Given the description of an element on the screen output the (x, y) to click on. 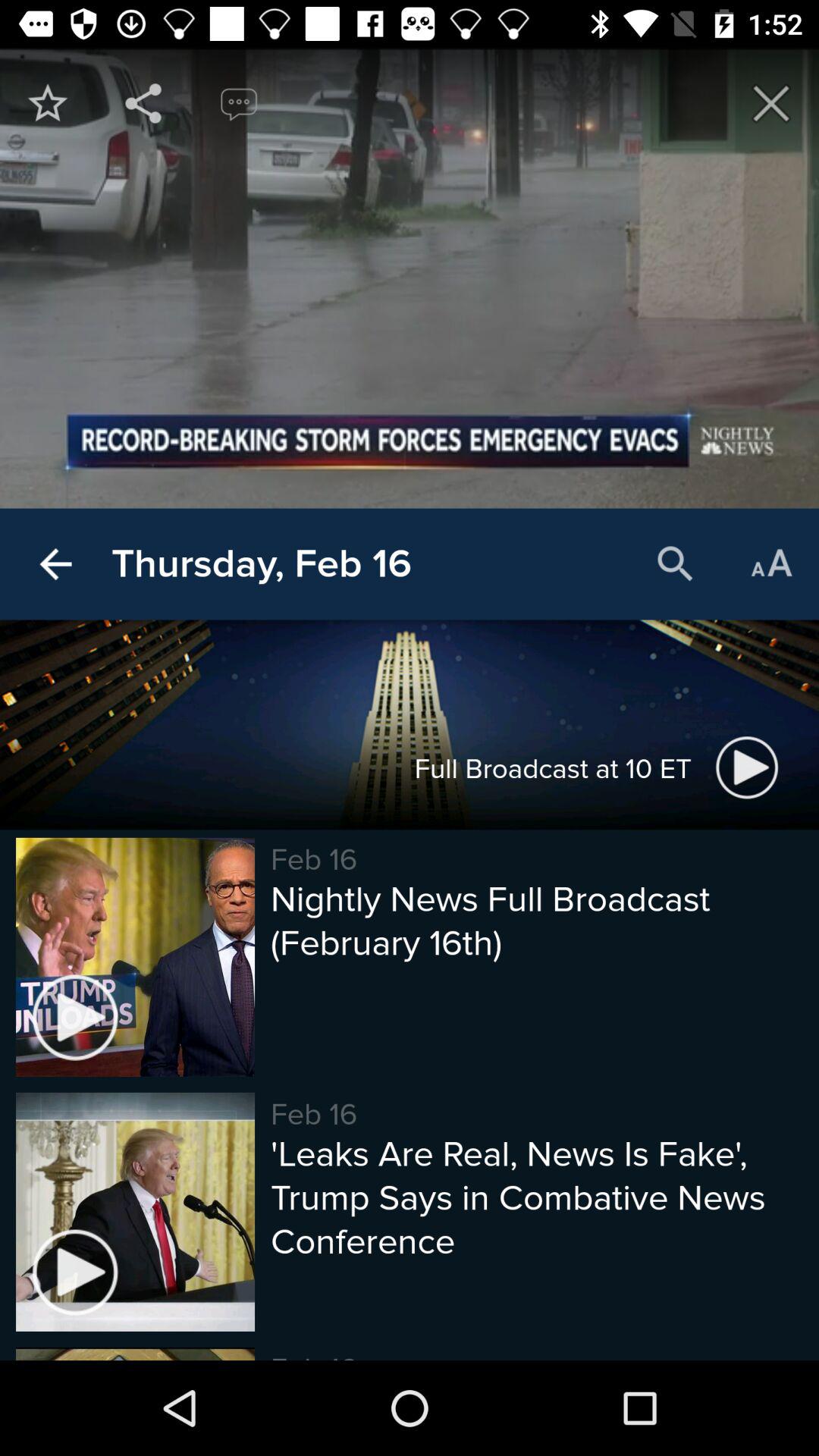
exit page (771, 103)
